Given the description of an element on the screen output the (x, y) to click on. 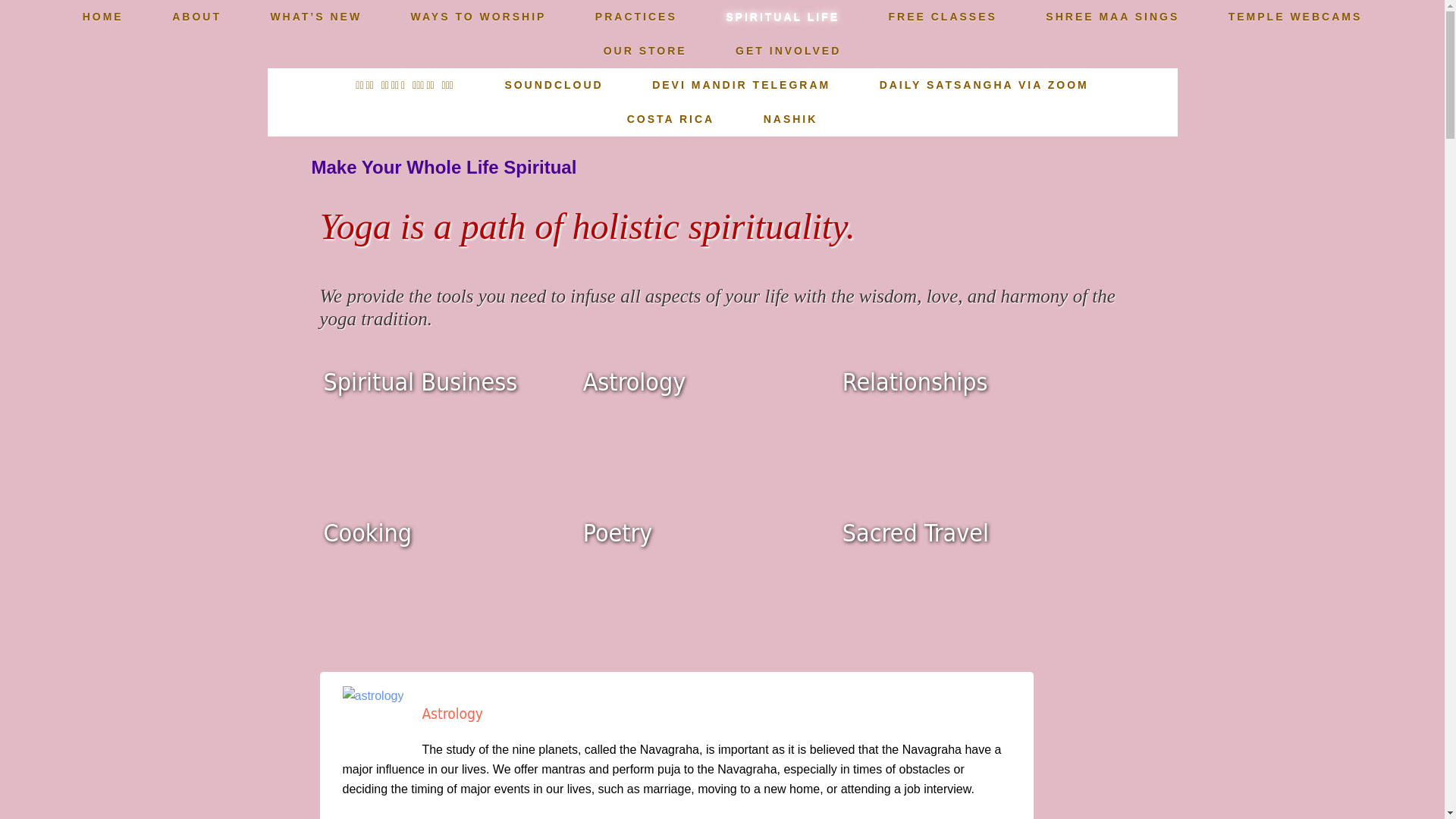
WAYS TO WORSHIP (478, 17)
PRACTICES (636, 17)
HOME (103, 17)
ABOUT (196, 17)
